Given the description of an element on the screen output the (x, y) to click on. 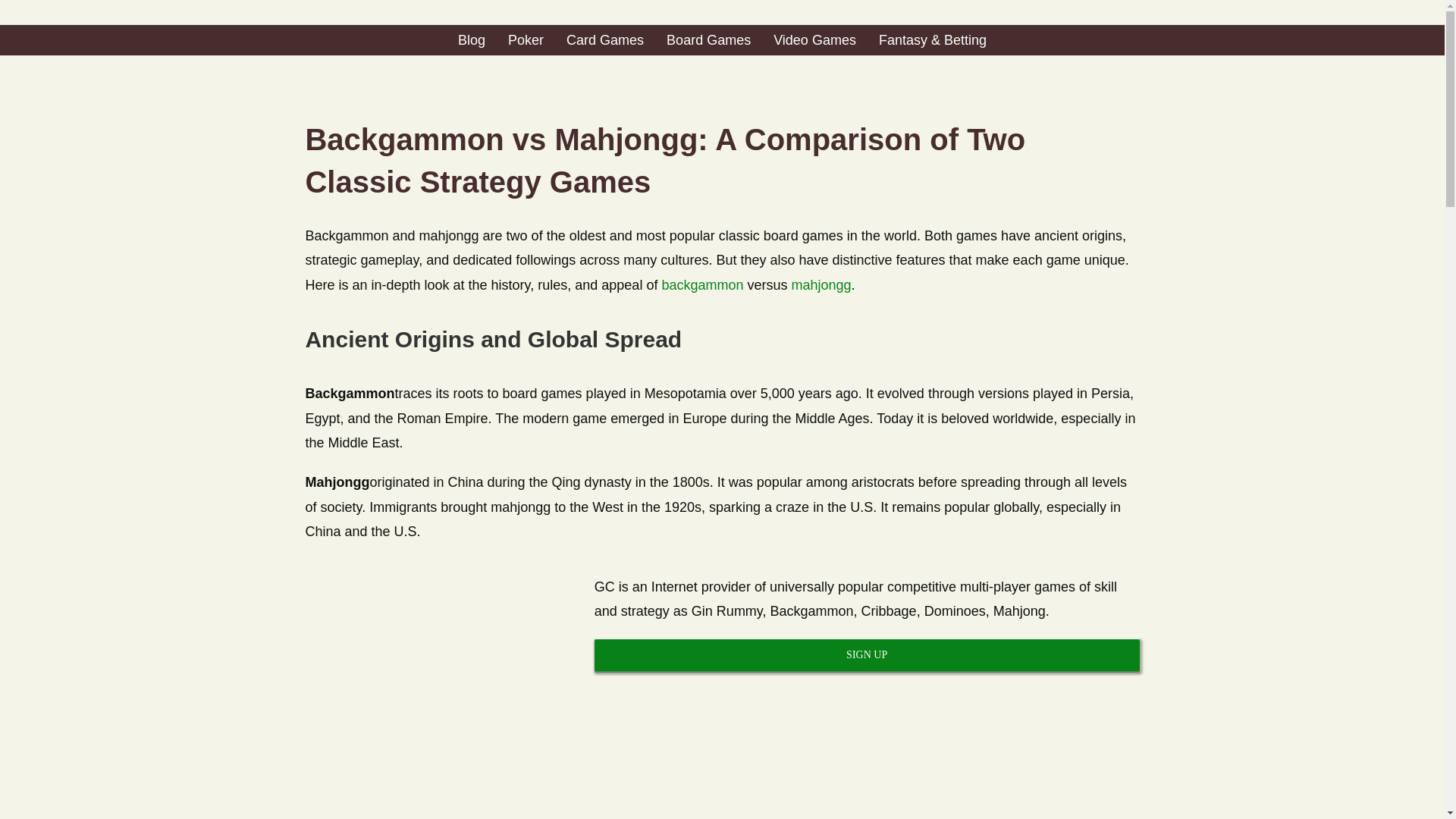
Video Games (814, 40)
Card Games (604, 40)
Board Games (708, 40)
Poker (525, 40)
Blog (471, 40)
